Given the description of an element on the screen output the (x, y) to click on. 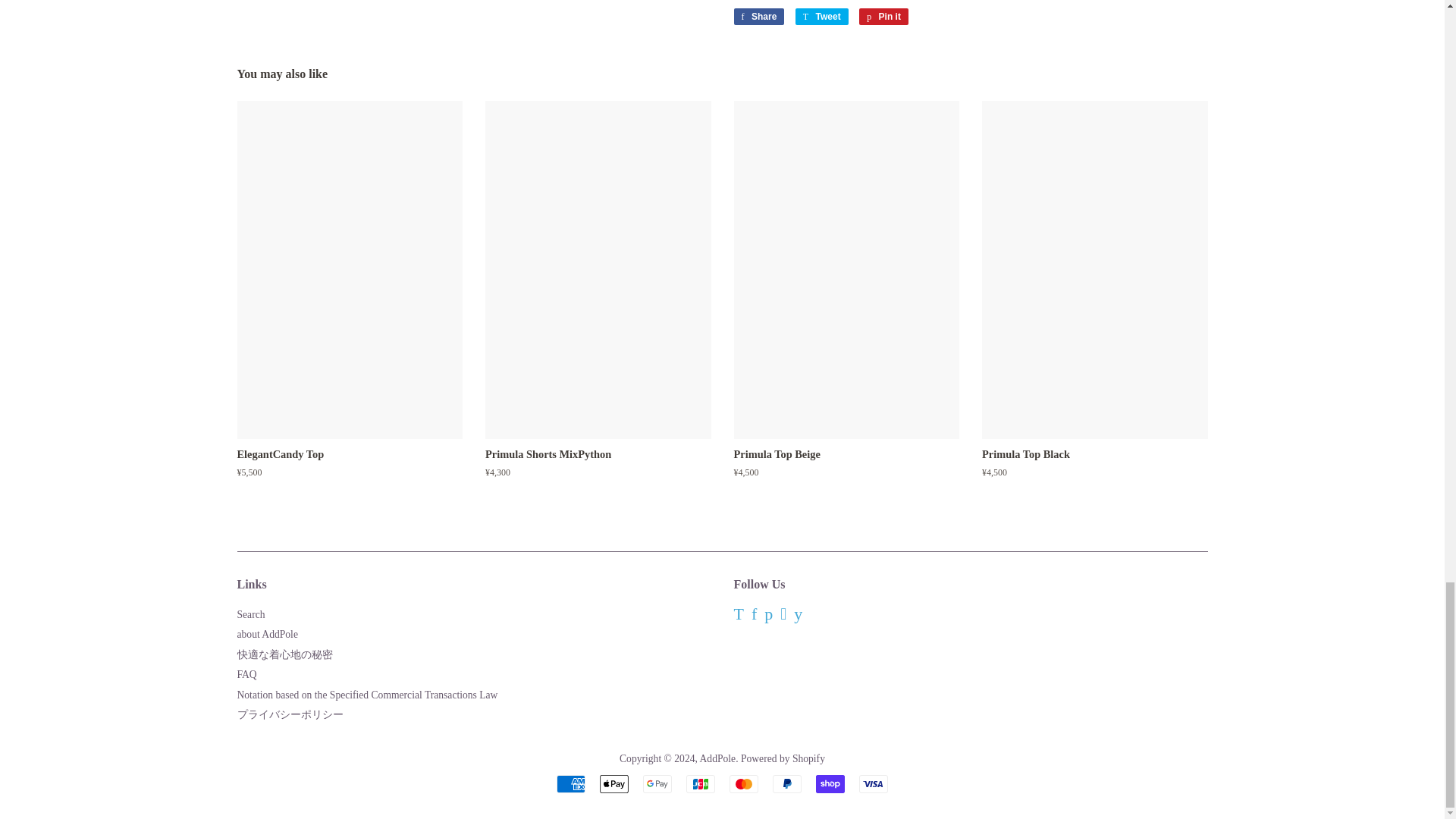
JCB (699, 783)
Pin on Pinterest (883, 16)
American Express (570, 783)
Google Pay (657, 783)
Mastercard (743, 783)
Tweet on Twitter (821, 16)
PayPal (787, 783)
Shop Pay (829, 783)
Apple Pay (613, 783)
Share on Facebook (758, 16)
